Given the description of an element on the screen output the (x, y) to click on. 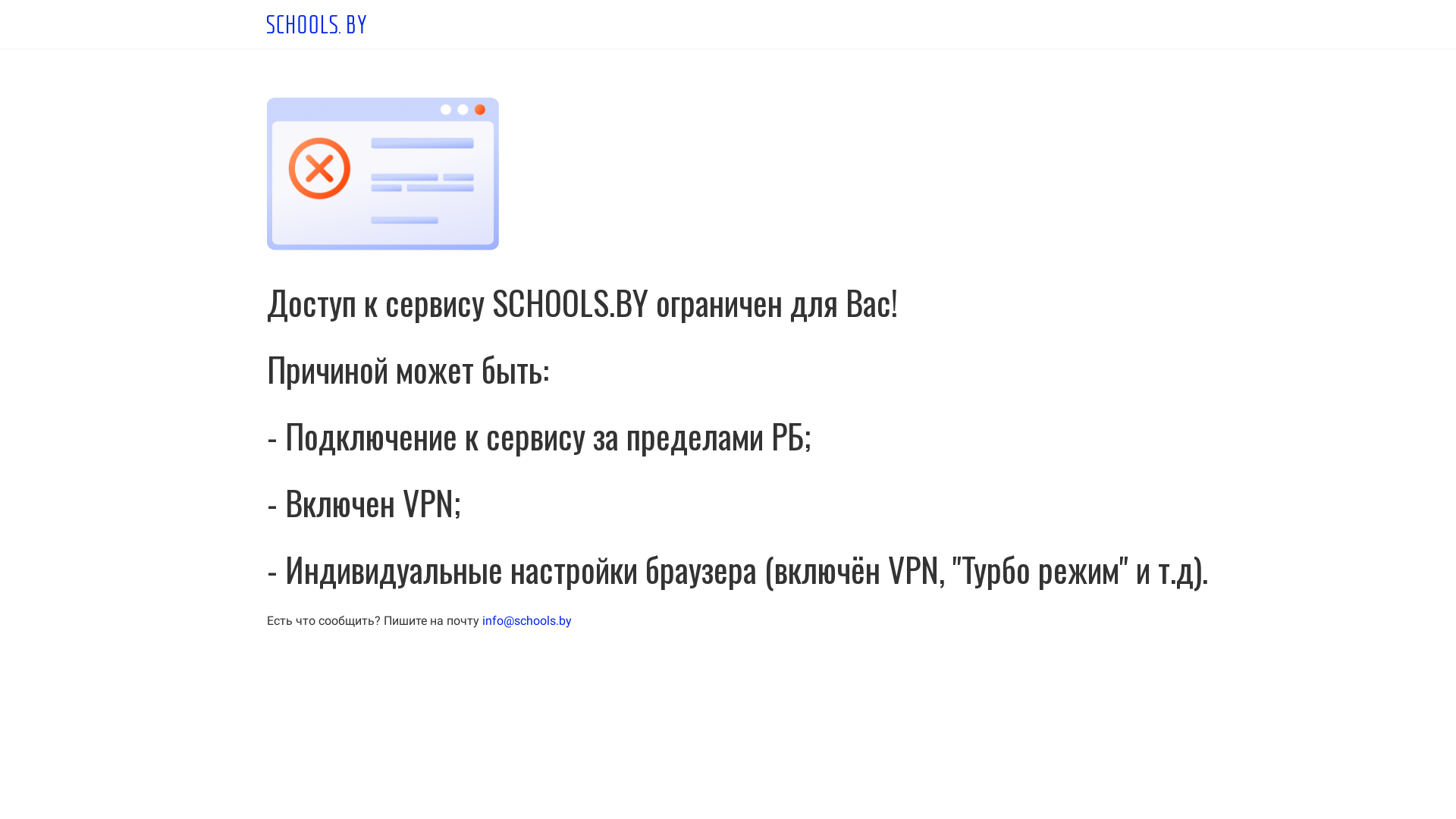
info@schools.by Element type: text (526, 620)
